Given the description of an element on the screen output the (x, y) to click on. 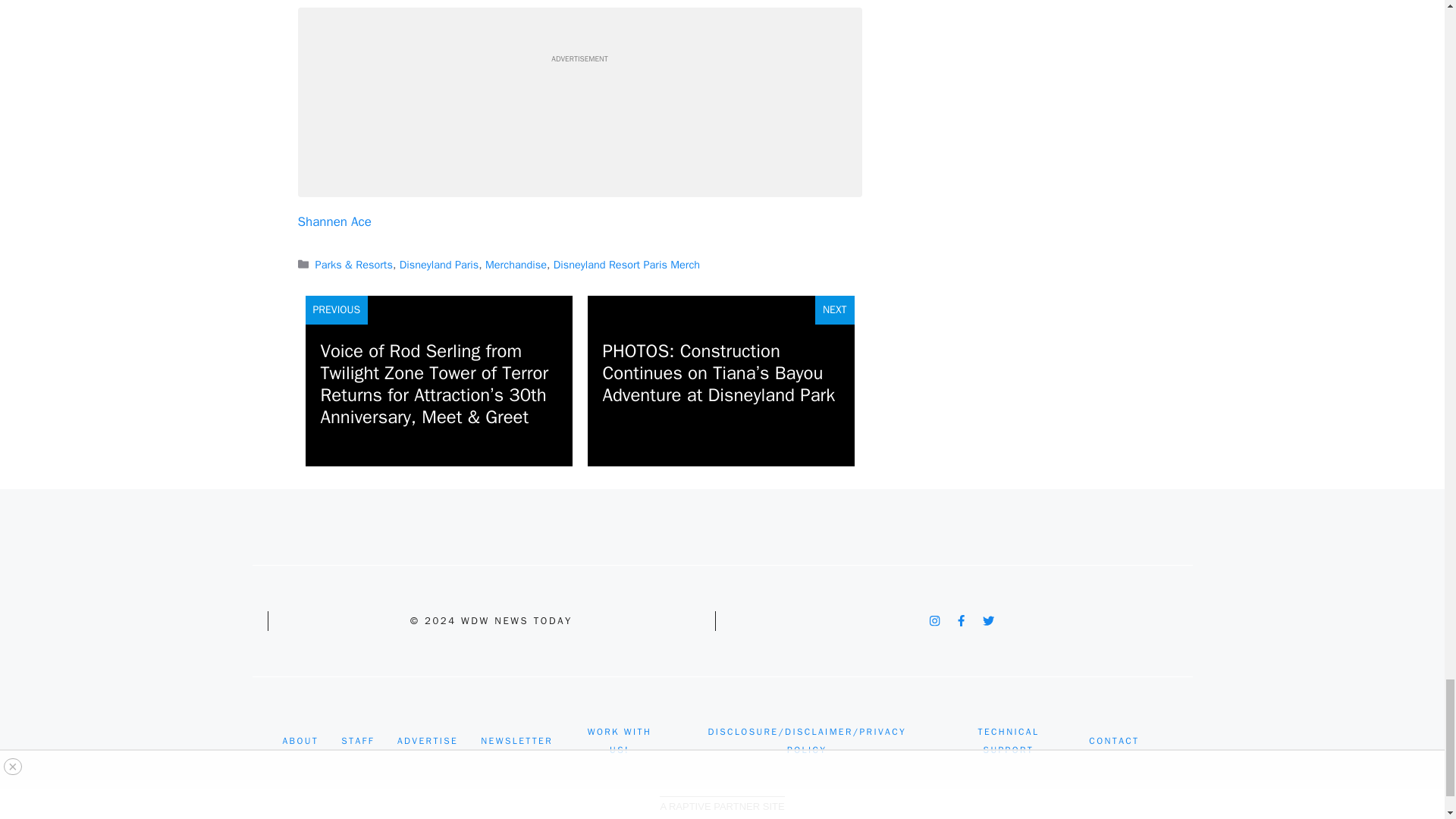
Shannen Ace (334, 221)
